Given the description of an element on the screen output the (x, y) to click on. 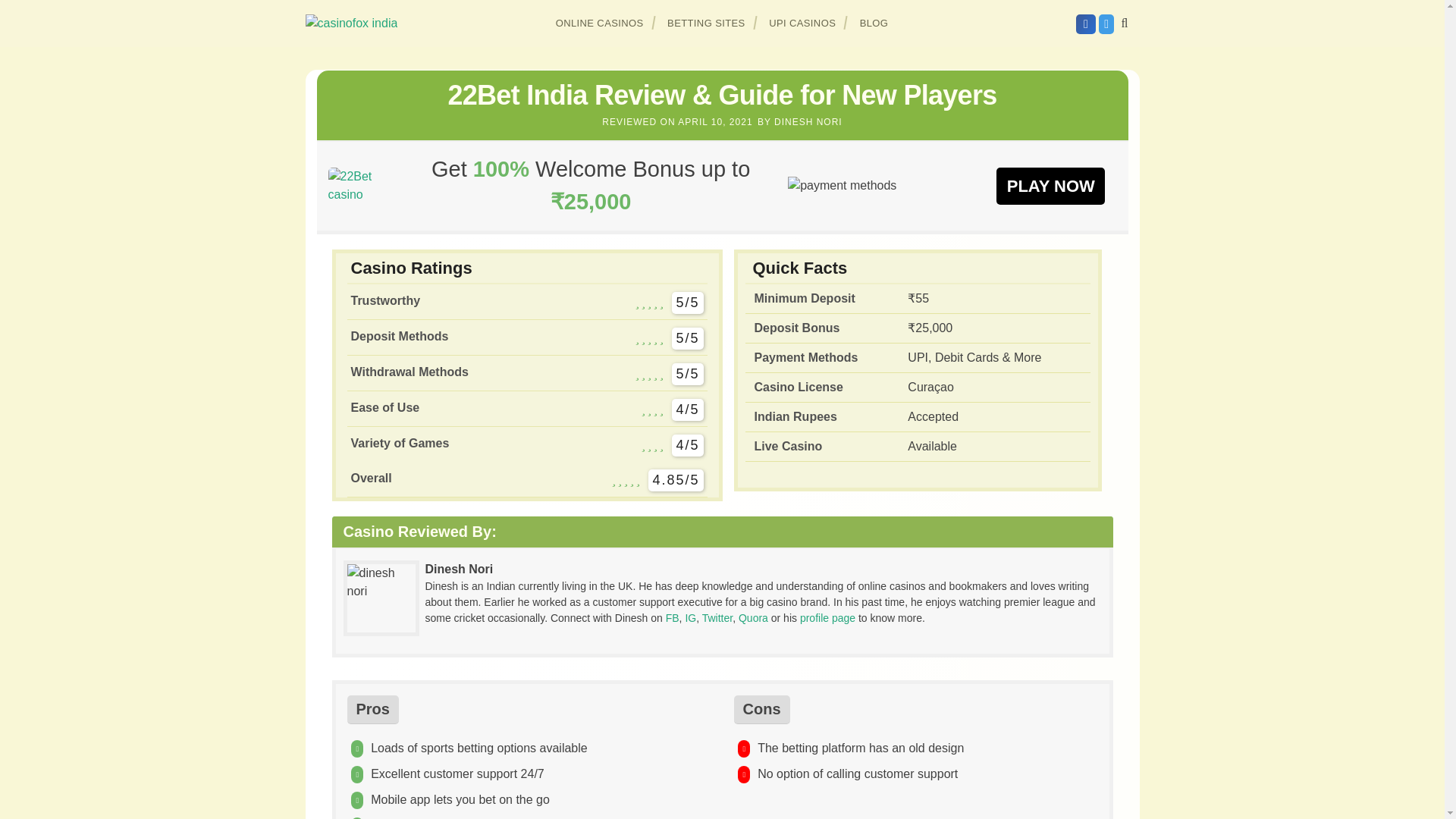
BETTING SITES (706, 23)
UPI CASINOS (801, 23)
ONLINE CASINOS (599, 23)
22Bet (360, 185)
22Bet (1050, 185)
profile page (827, 617)
Twitter (716, 617)
FB (672, 617)
PLAY NOW (1050, 185)
IG (689, 617)
BLOG (874, 23)
Quora (753, 617)
